Given the description of an element on the screen output the (x, y) to click on. 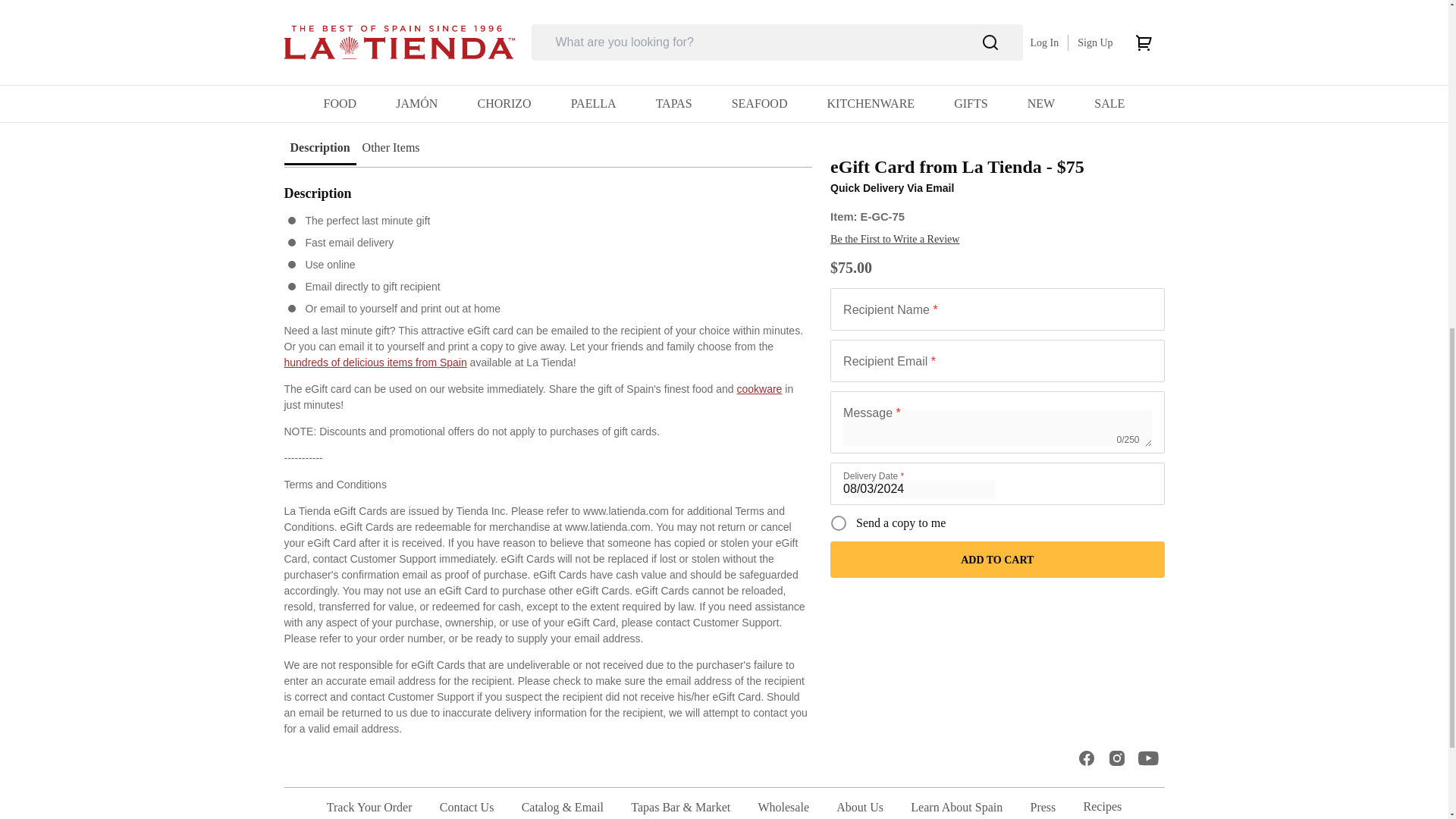
hundreds of delicious items from Spain (374, 362)
Other Items (391, 146)
Description (319, 146)
cookware (758, 388)
ADD TO CART (996, 3)
